Given the description of an element on the screen output the (x, y) to click on. 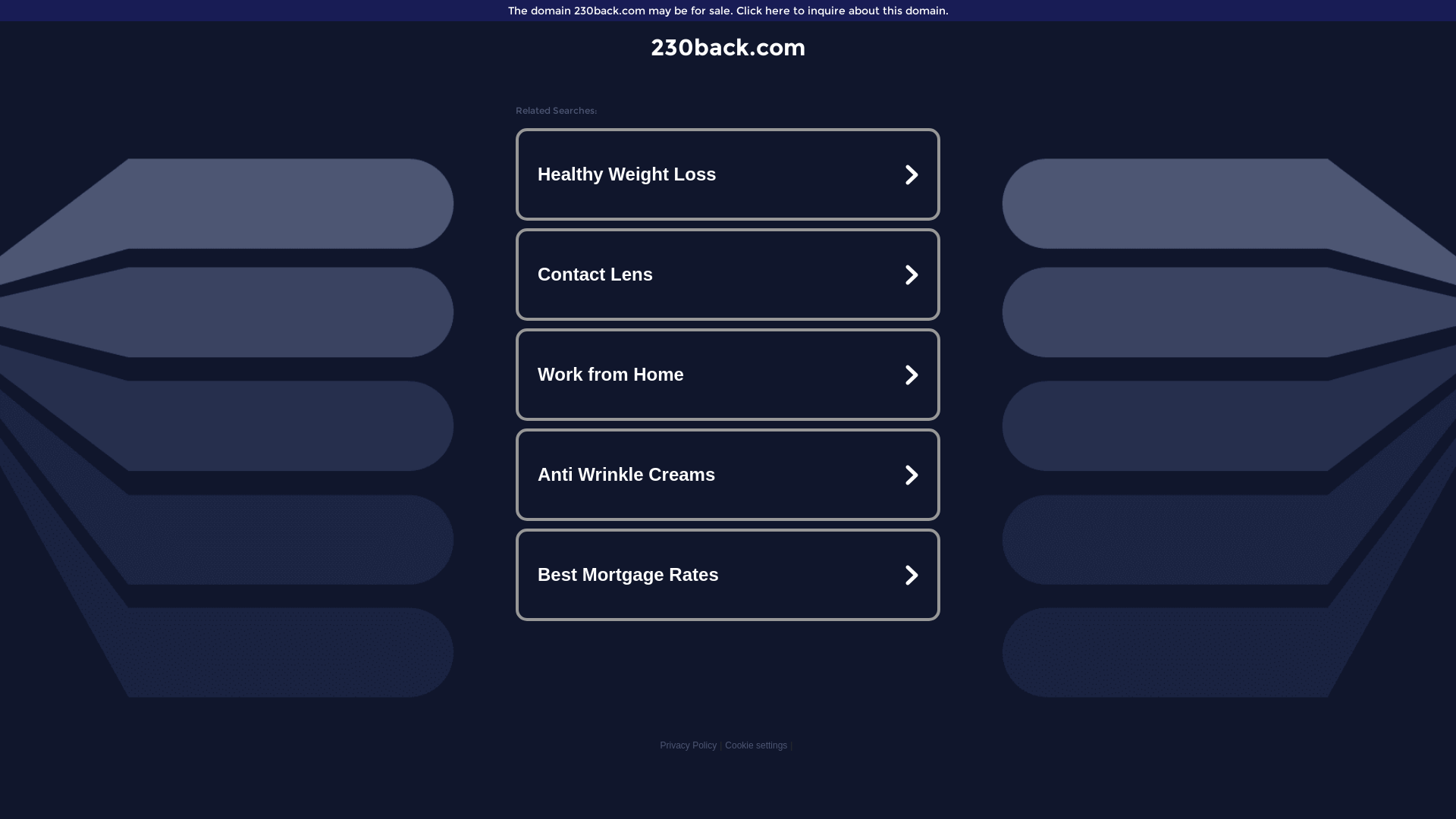
Contact Lens Element type: text (727, 274)
230back.com Element type: text (727, 47)
Privacy Policy Element type: text (687, 745)
Best Mortgage Rates Element type: text (727, 574)
Healthy Weight Loss Element type: text (727, 174)
Anti Wrinkle Creams Element type: text (727, 474)
Cookie settings Element type: text (755, 745)
Work from Home Element type: text (727, 374)
